Given the description of an element on the screen output the (x, y) to click on. 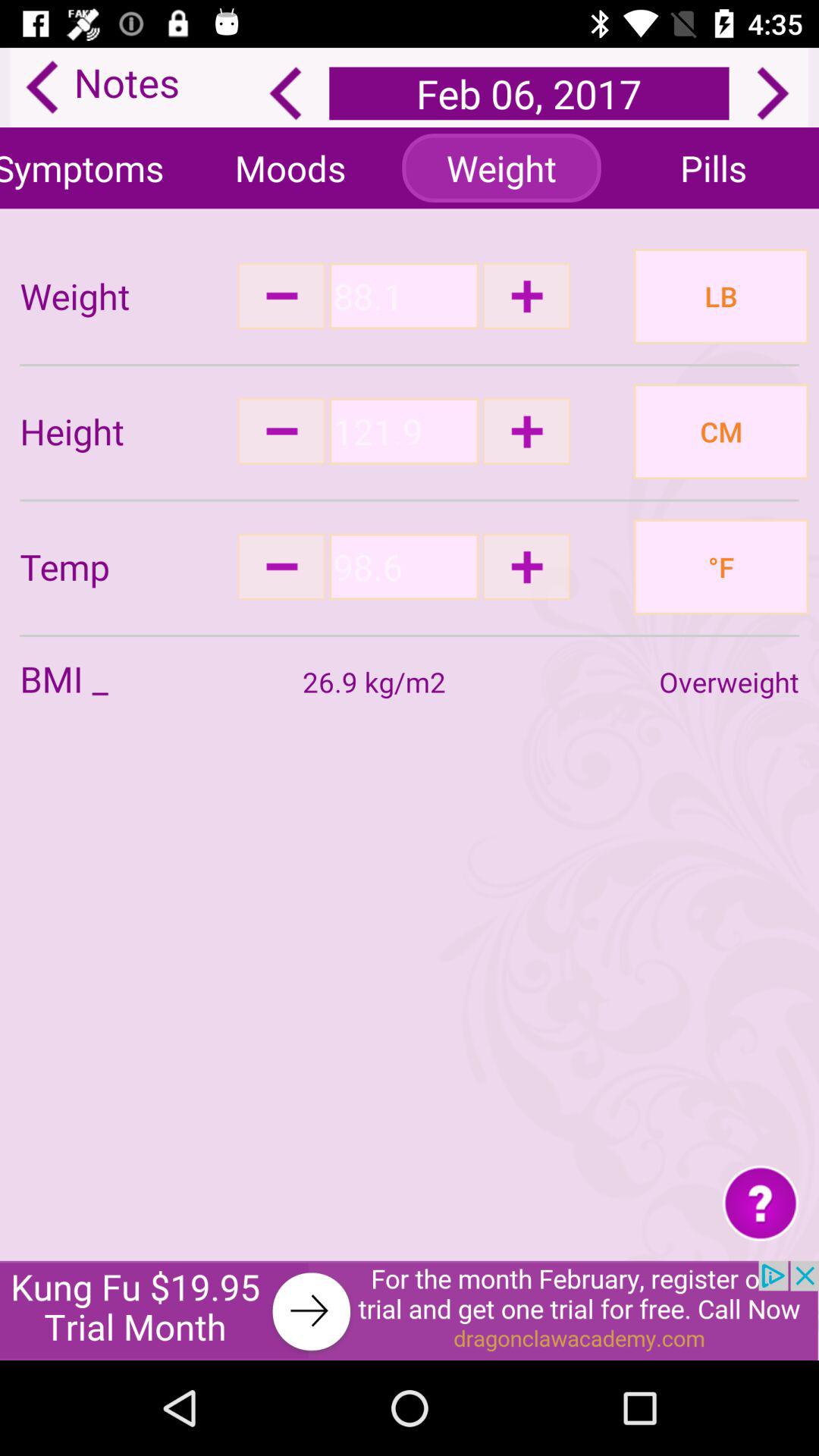
increase temp (526, 566)
